Given the description of an element on the screen output the (x, y) to click on. 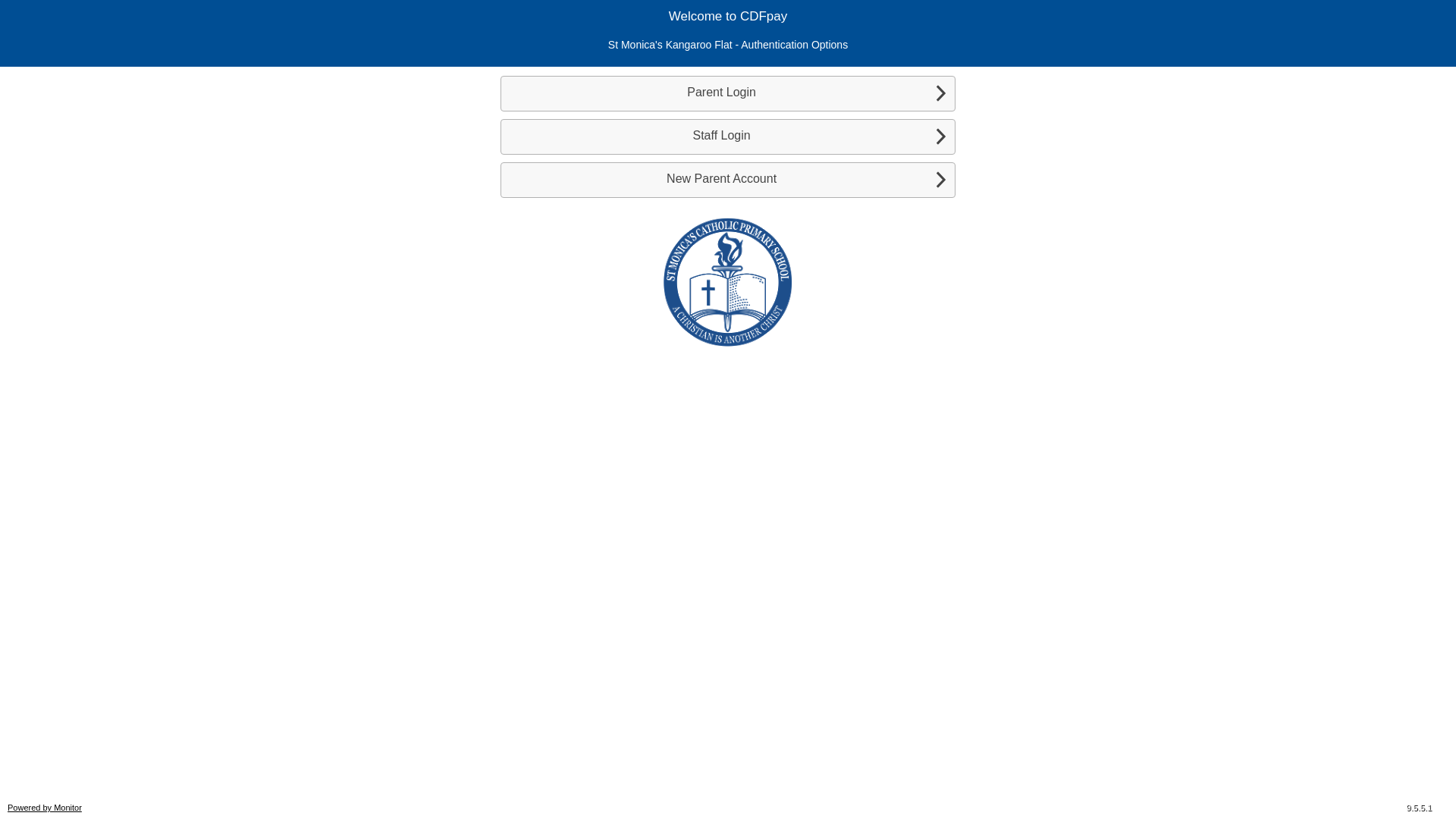
Powered by Monitor Element type: text (44, 807)
Parent Login Element type: text (727, 93)
New Parent Account Element type: text (727, 179)
Staff Login Element type: text (727, 136)
